Given the description of an element on the screen output the (x, y) to click on. 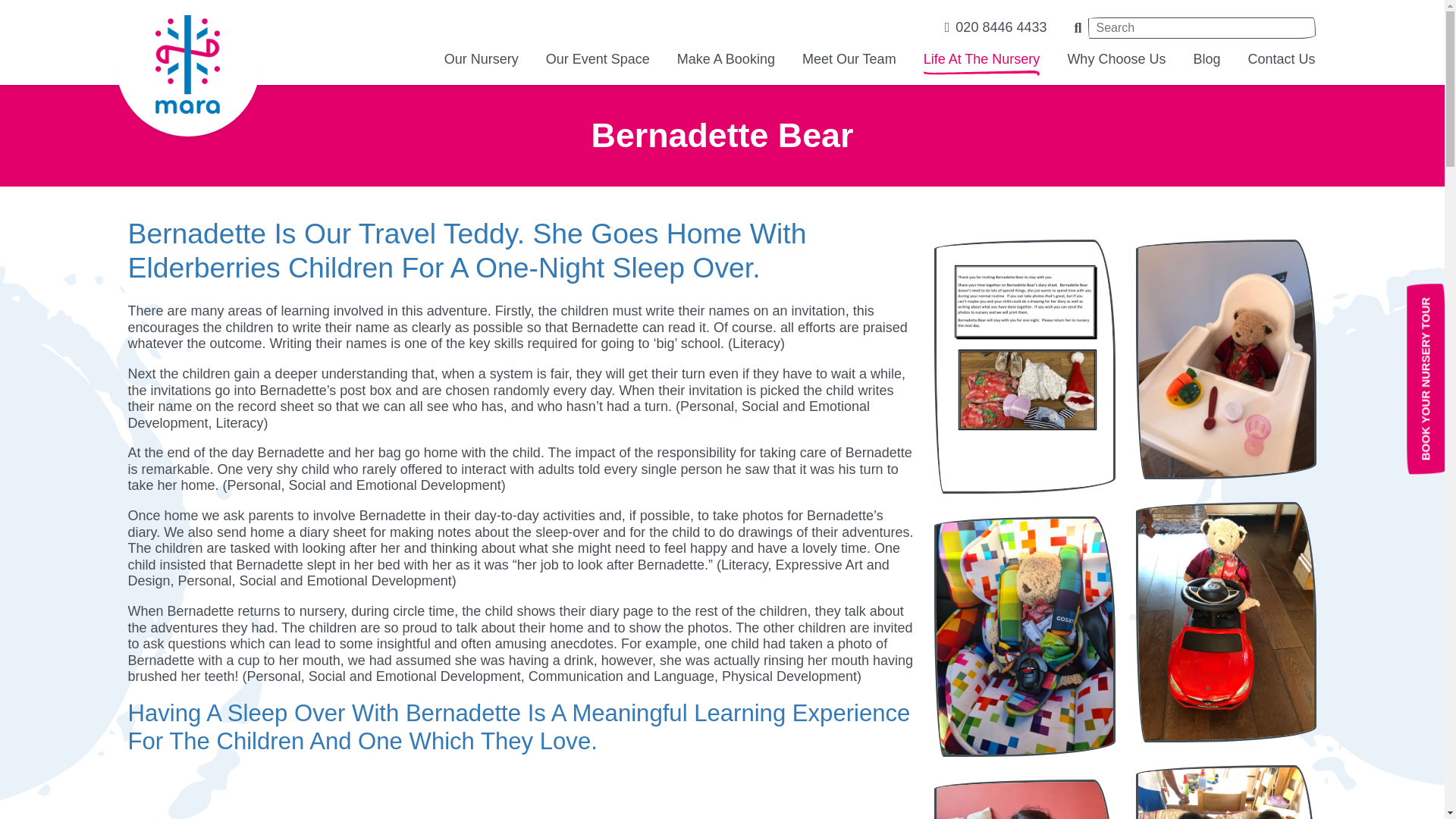
Our Event Space (597, 58)
Blog (1206, 58)
Meet Our Team (849, 58)
Our Nursery (481, 58)
Make A Booking (725, 58)
Contact Us (1280, 58)
Life At The Nursery (982, 59)
Why Choose Us (1116, 58)
020 8446 4433 (996, 27)
